Given the description of an element on the screen output the (x, y) to click on. 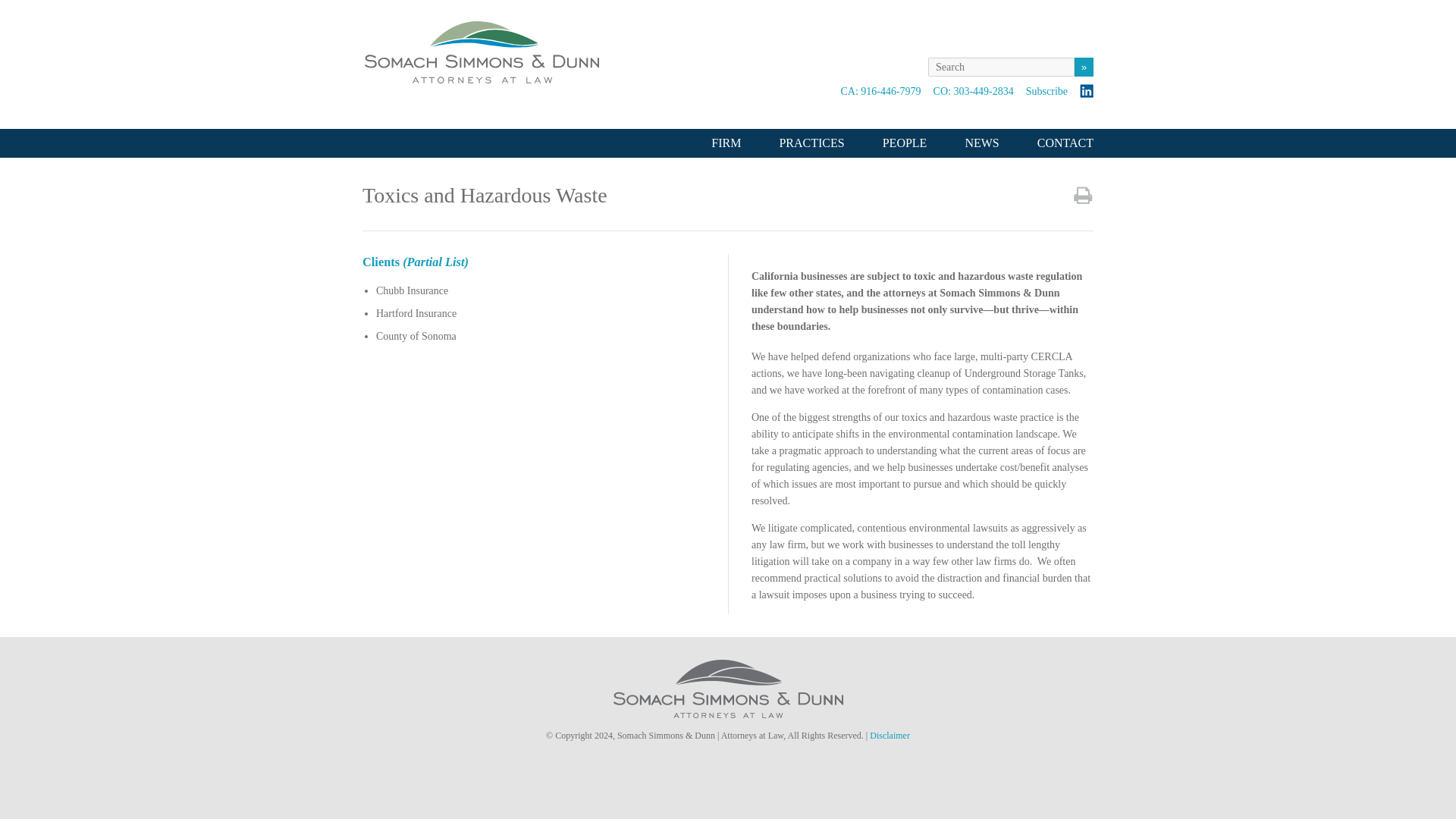
PRACTICES (810, 143)
CO: 303-449-2834 (973, 91)
Subscribe (1046, 91)
FIRM (725, 143)
CA: 916-446-7979 (880, 91)
NEWS (981, 143)
Disclaimer (889, 735)
CONTACT (1065, 143)
PEOPLE (904, 143)
